Given the description of an element on the screen output the (x, y) to click on. 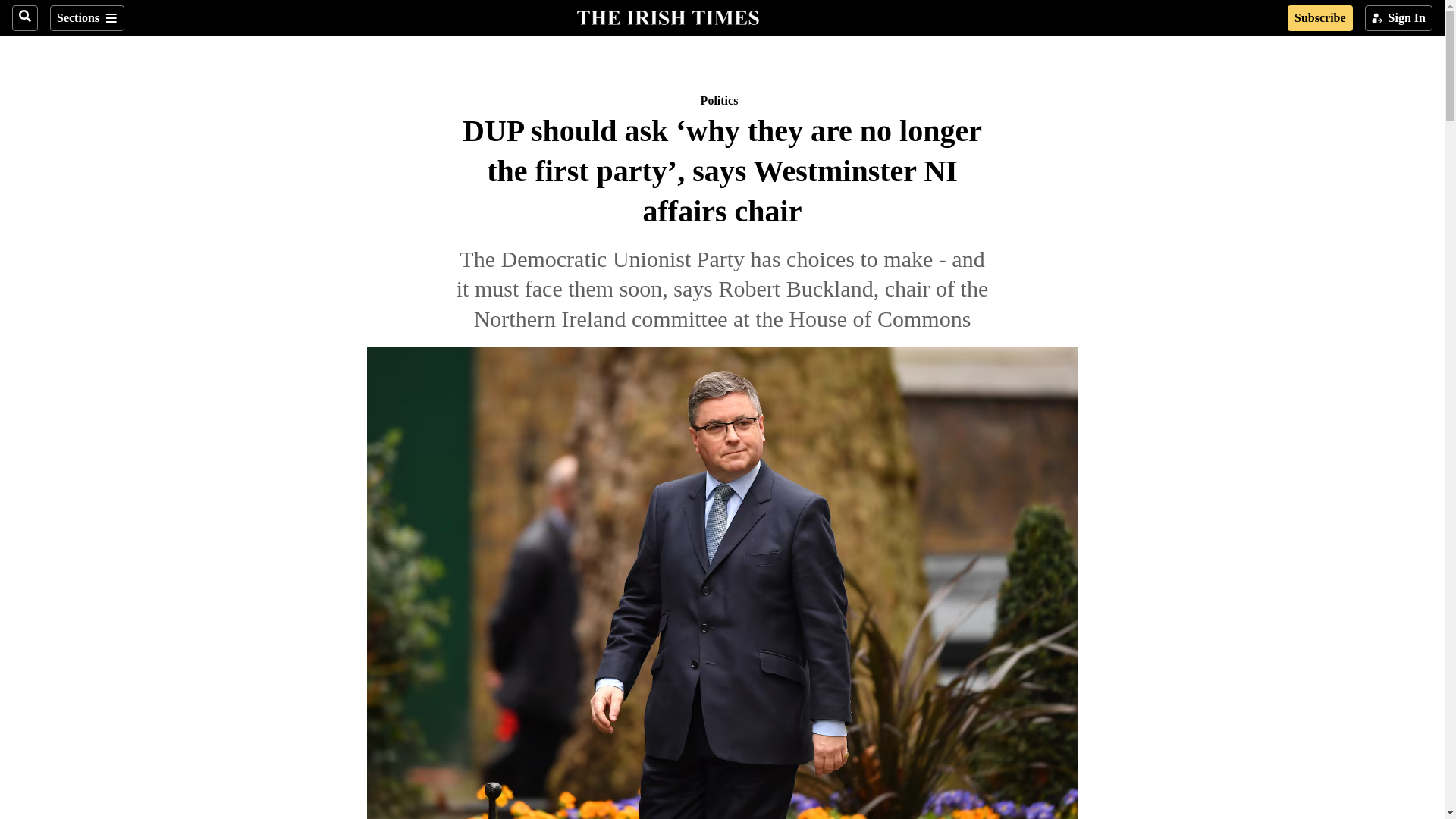
The Irish Times (667, 16)
Sections (86, 17)
Sign In (1398, 17)
Subscribe (1319, 17)
